Given the description of an element on the screen output the (x, y) to click on. 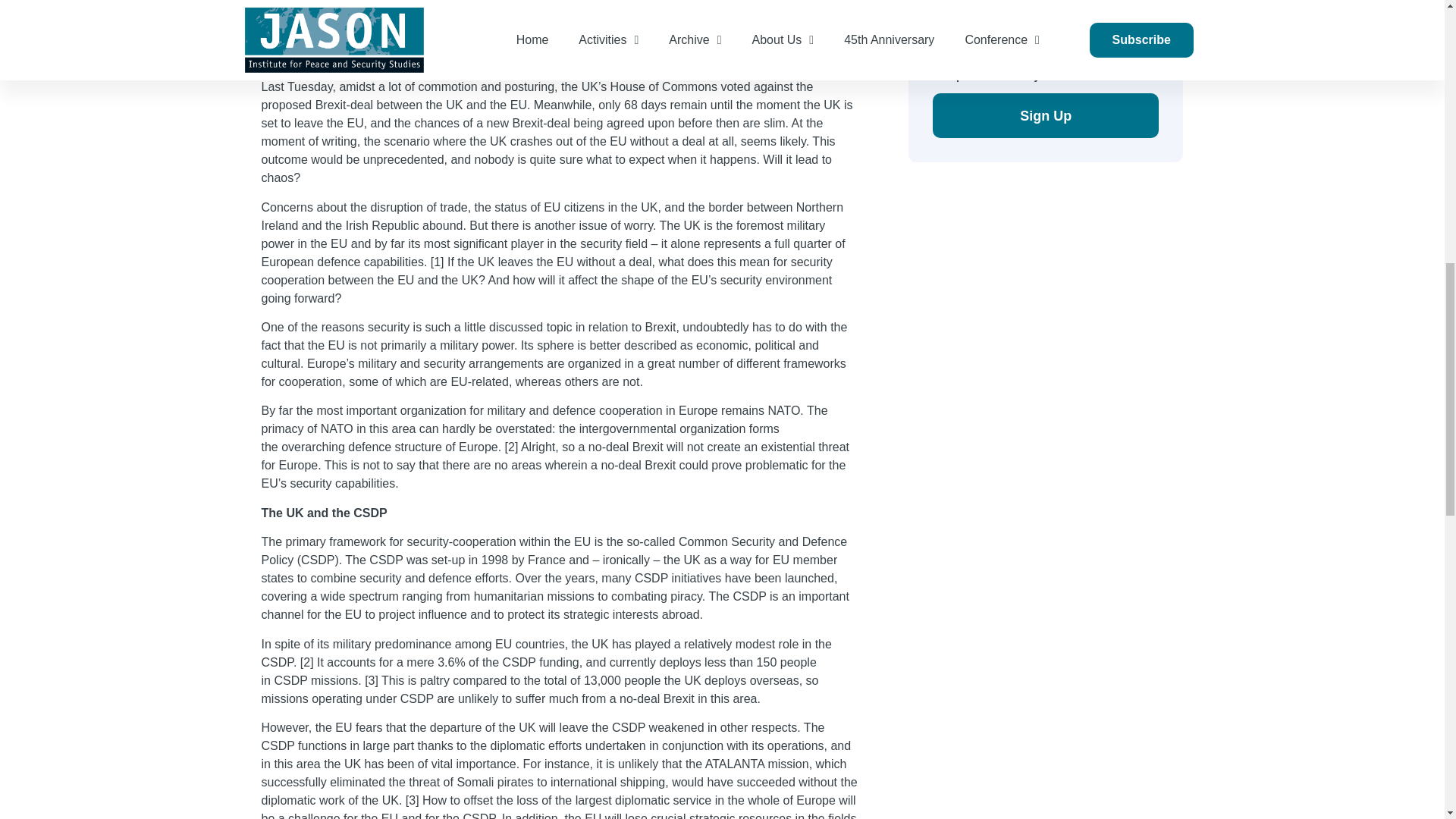
on (937, 38)
